Given the description of an element on the screen output the (x, y) to click on. 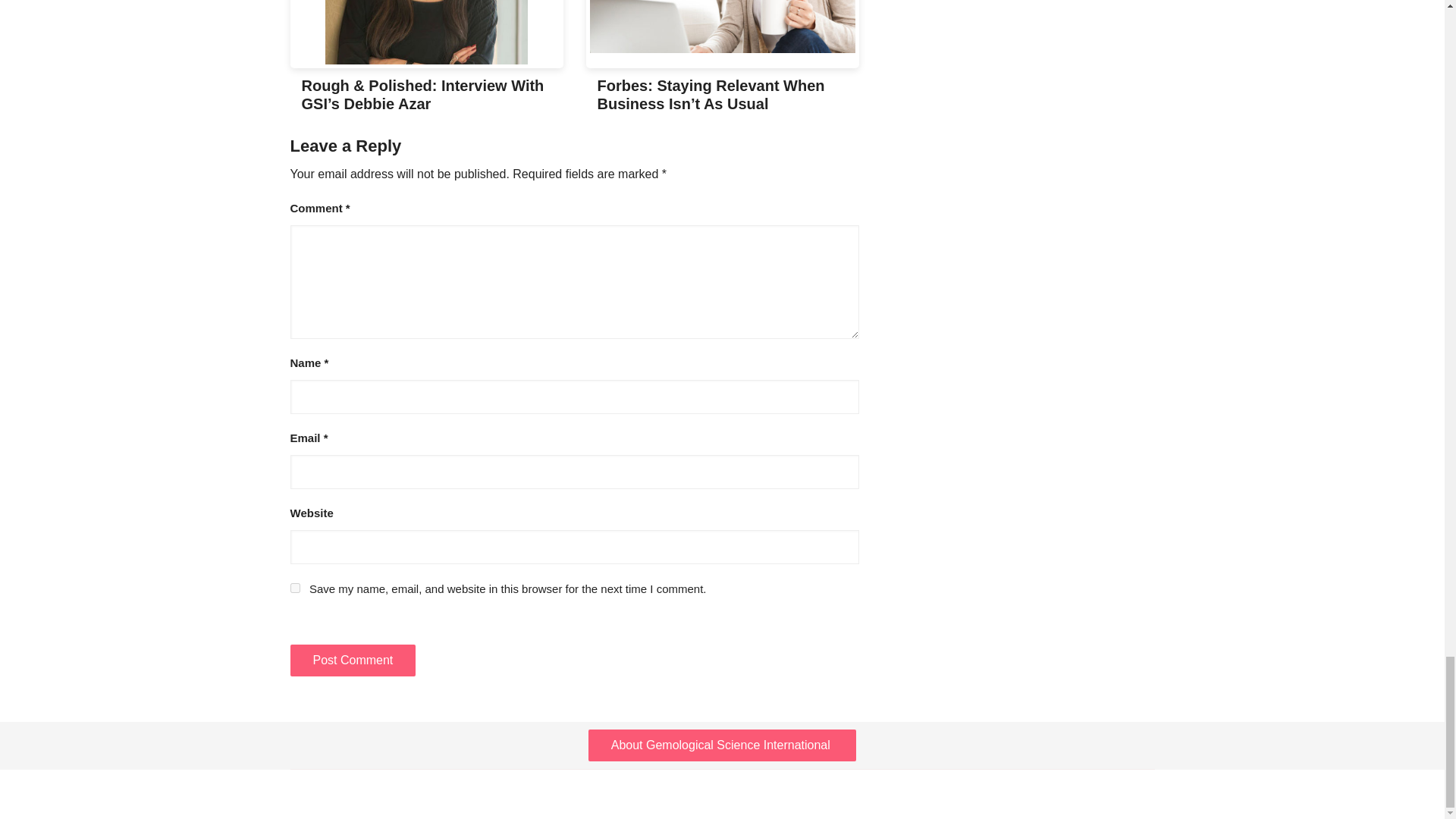
Post Comment (351, 660)
yes (294, 587)
